Given the description of an element on the screen output the (x, y) to click on. 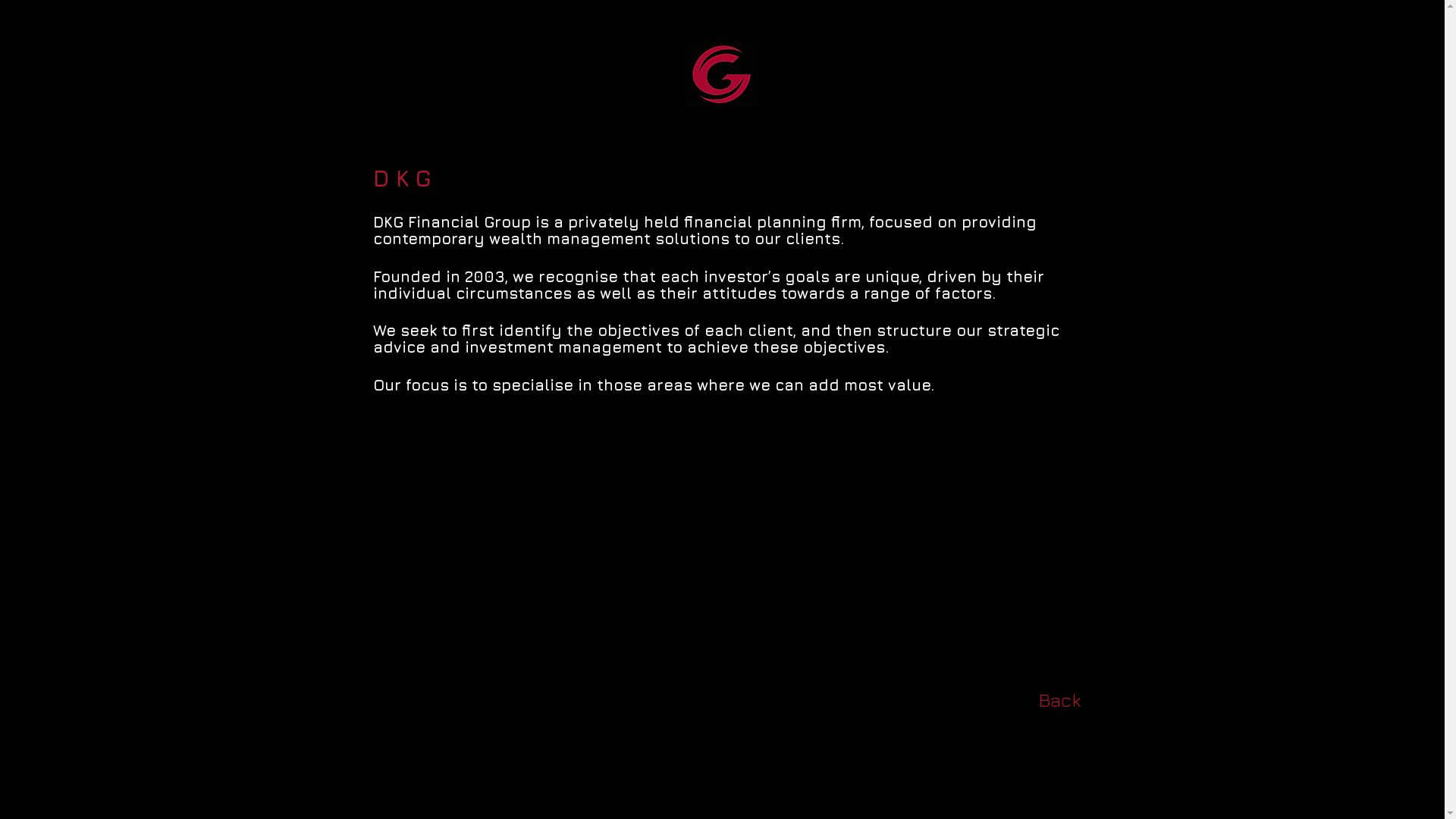
Back Element type: text (1058, 698)
